Given the description of an element on the screen output the (x, y) to click on. 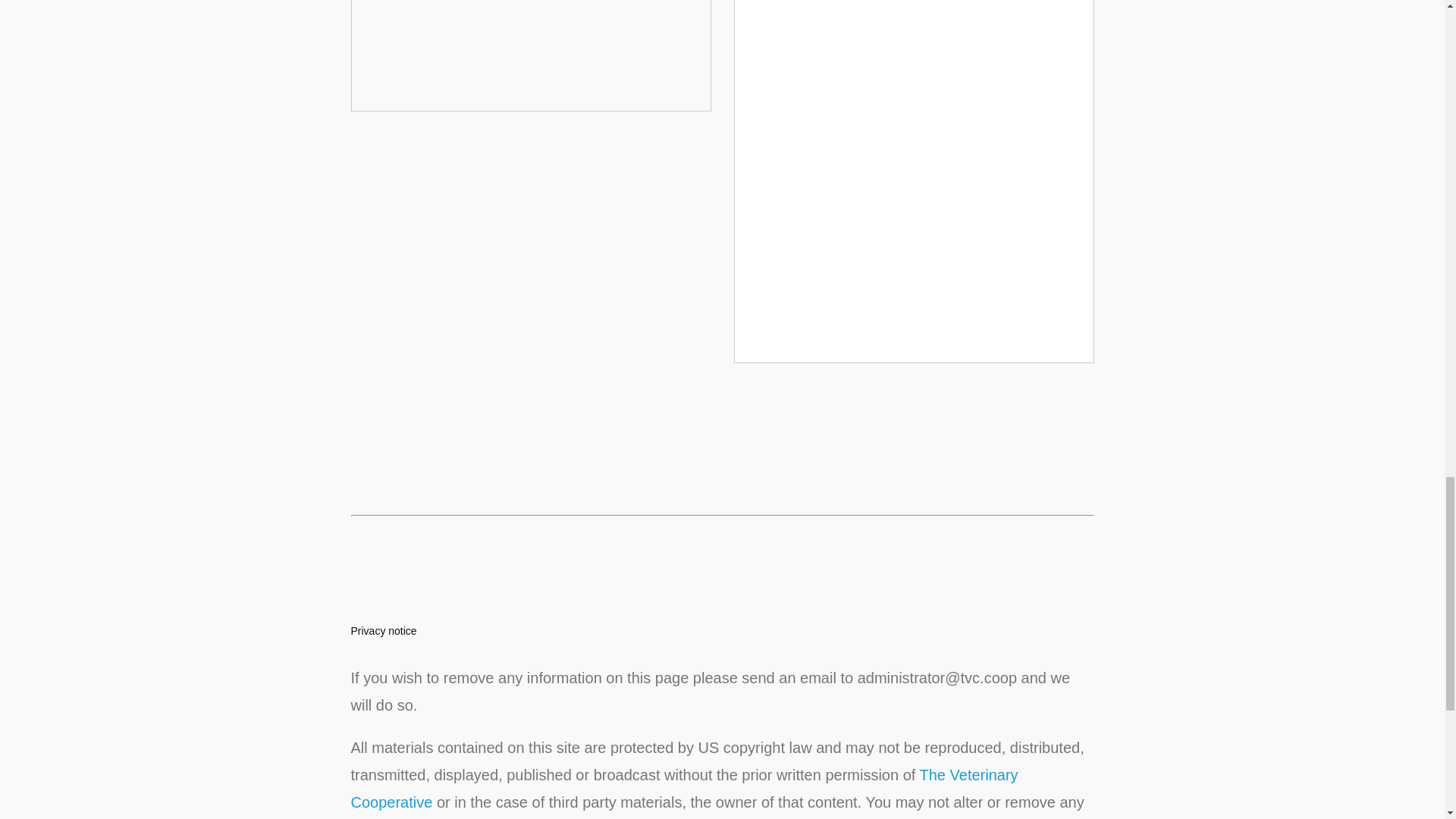
The Veterinary Cooperative (683, 788)
